Given the description of an element on the screen output the (x, y) to click on. 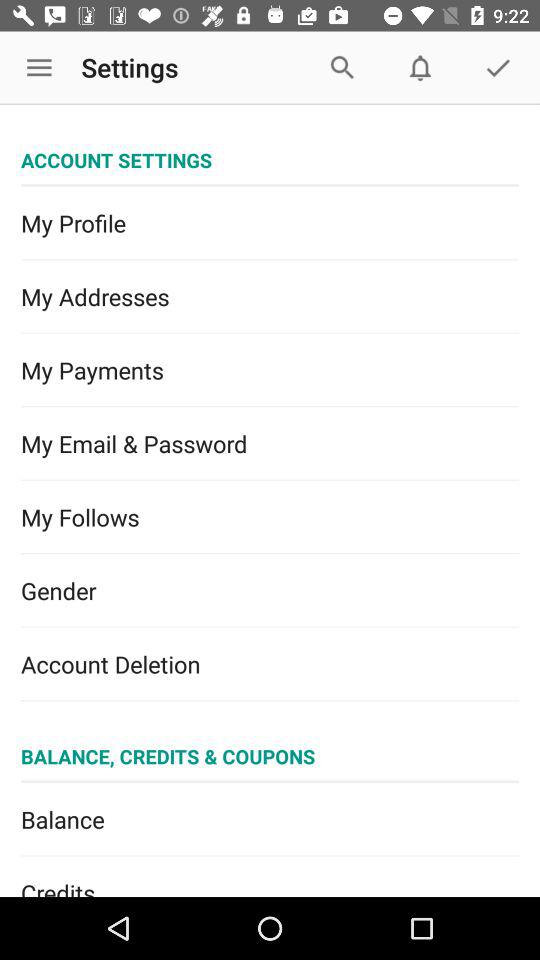
scroll until the my email & password (270, 443)
